Given the description of an element on the screen output the (x, y) to click on. 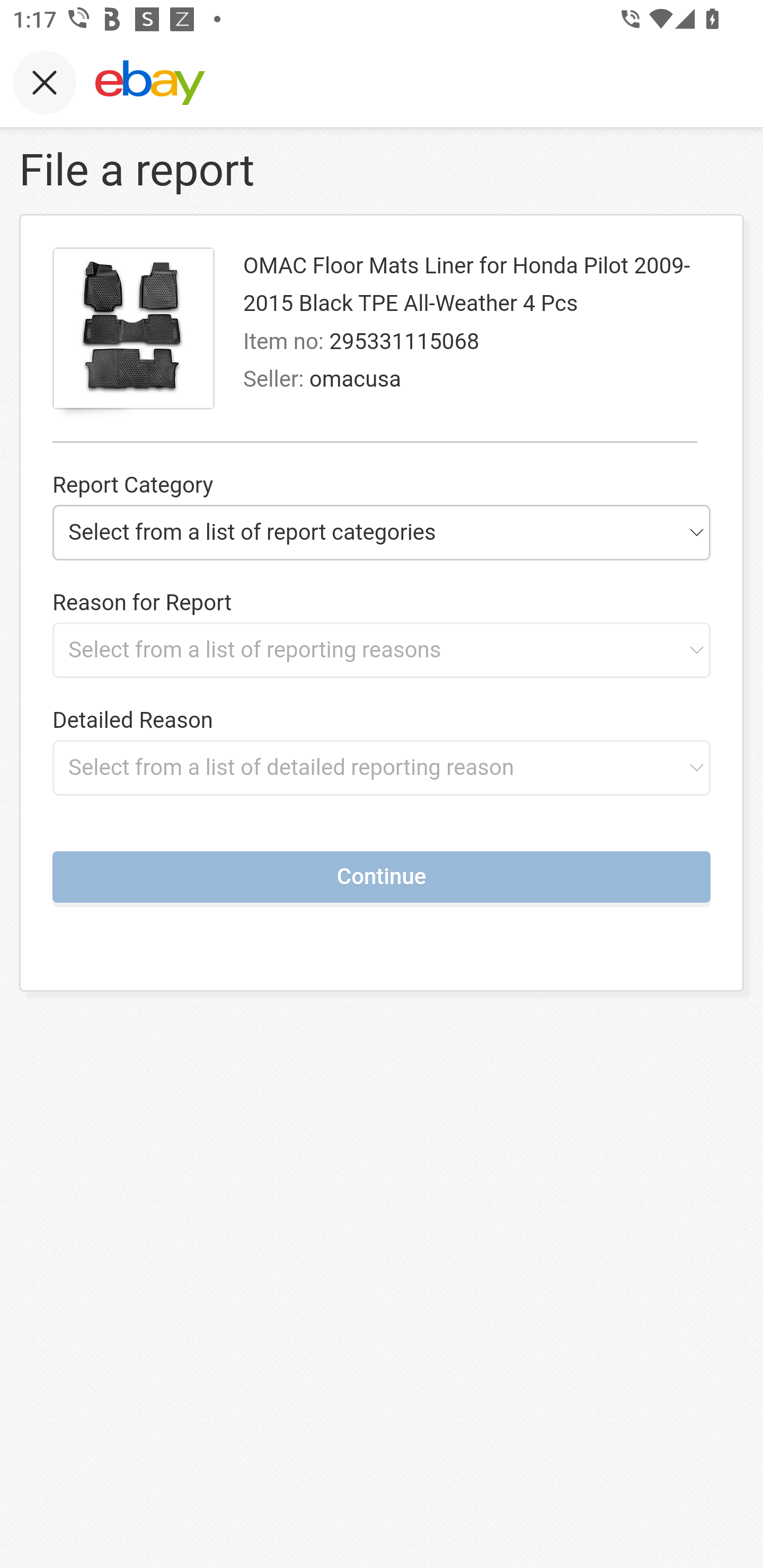
Close (44, 82)
Select from a list of report categories (381, 532)
Select from a list of reporting reasons (381, 649)
Select from a list of detailed reporting reason (381, 767)
Continue (381, 876)
